Given the description of an element on the screen output the (x, y) to click on. 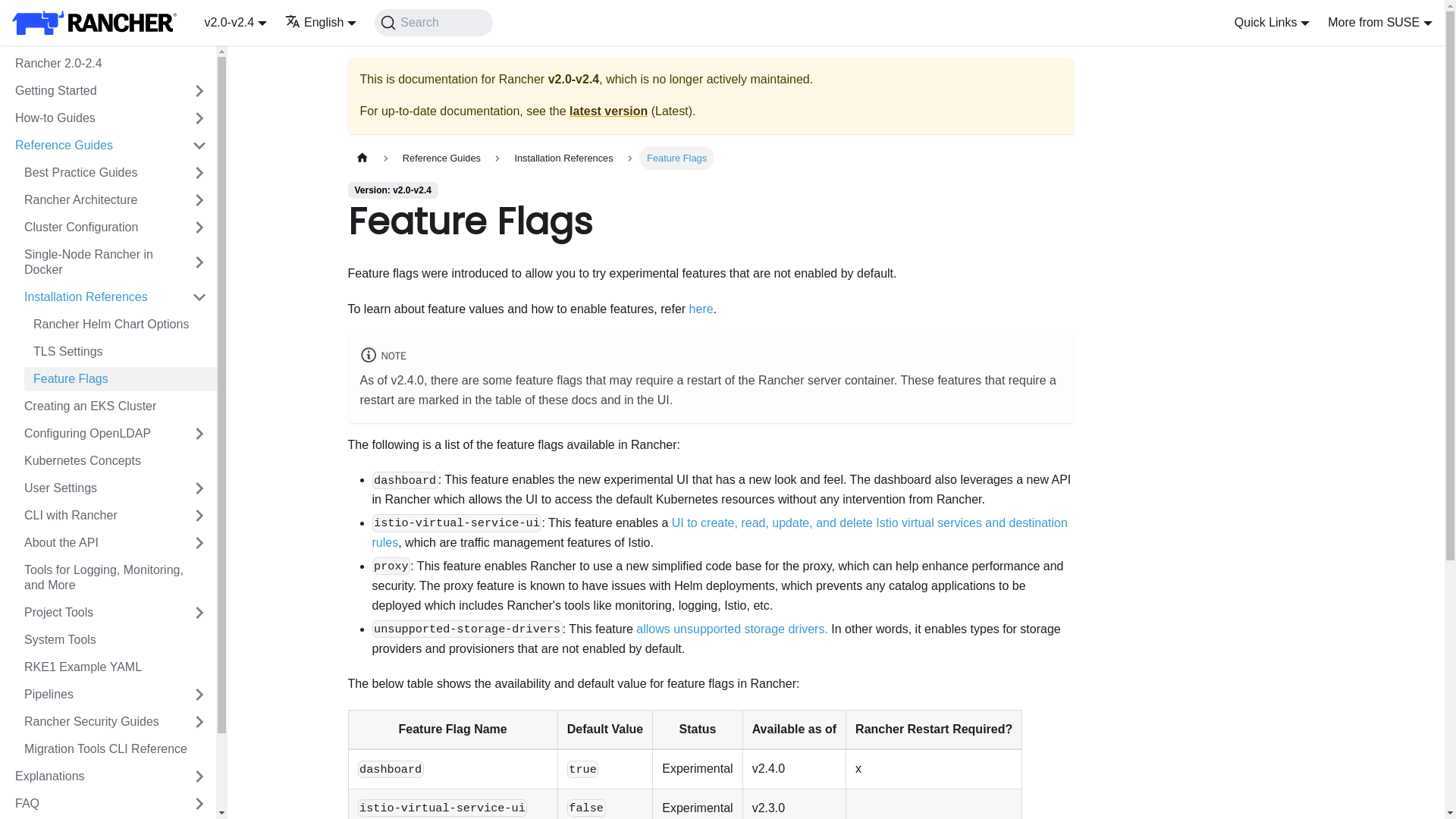
Rancher 2.0-2.4 (110, 63)
Getting Started (94, 90)
v2.0-v2.4 (234, 21)
Reference Guides (94, 145)
Search (433, 22)
Cluster Configuration (98, 227)
English (320, 21)
Quick Links (1272, 21)
Best Practice Guides (98, 172)
Rancher Architecture (98, 200)
